Given the description of an element on the screen output the (x, y) to click on. 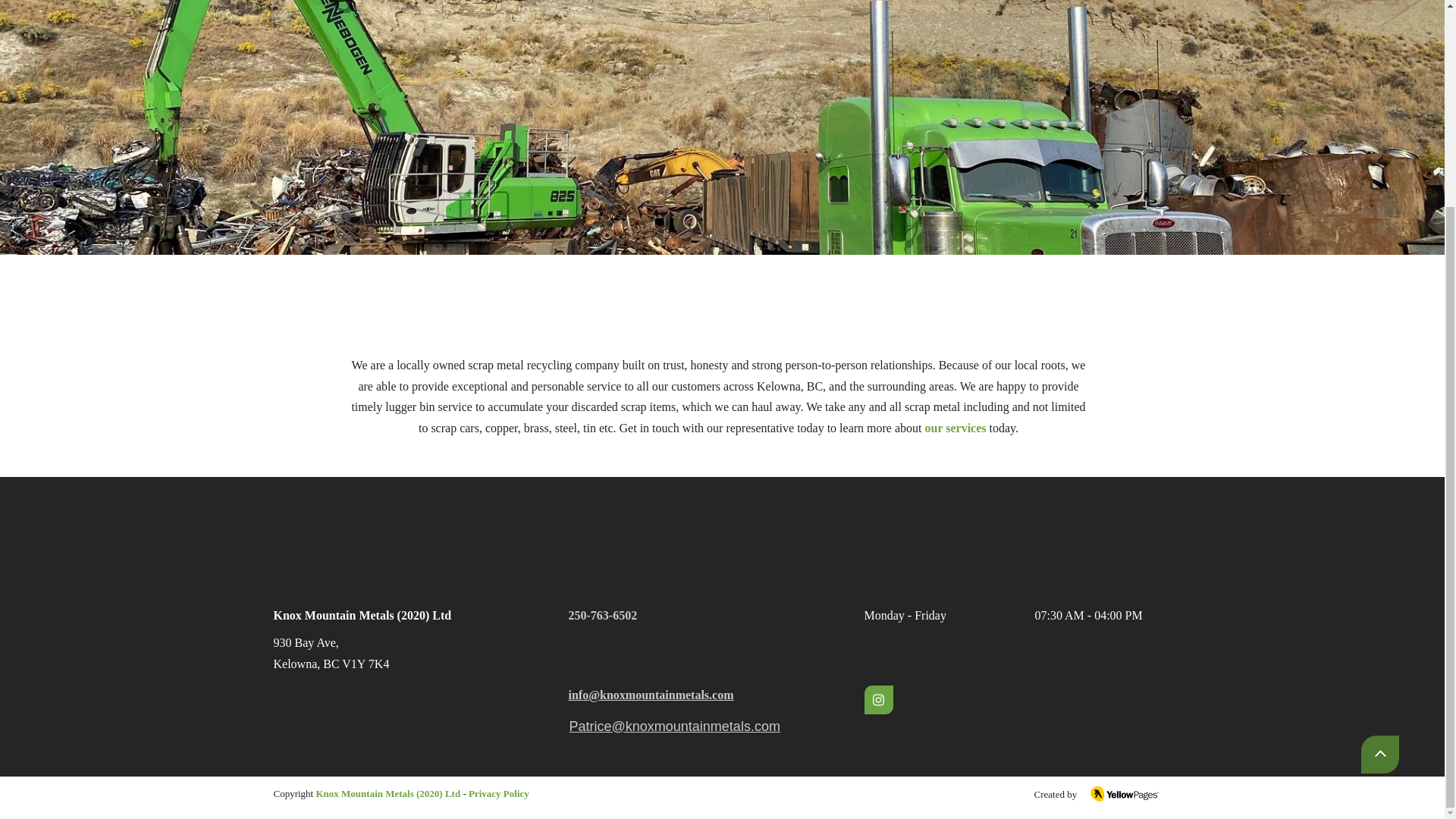
our services (954, 427)
Privacy Policy (497, 793)
250-763-6502 (603, 615)
